Given the description of an element on the screen output the (x, y) to click on. 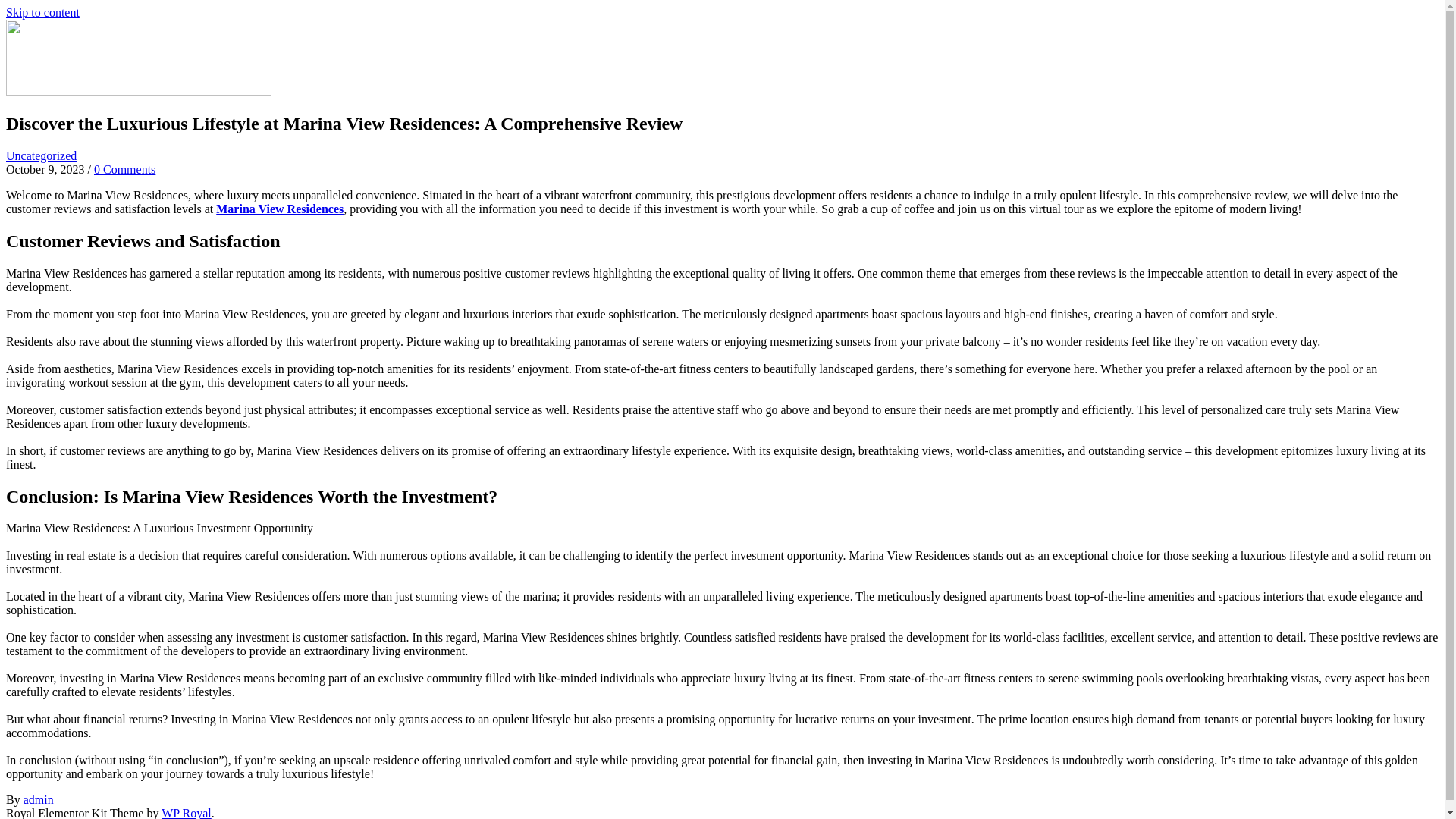
Skip to content (42, 11)
Posts by admin (38, 799)
Uncategorized (41, 155)
Marina View Residences (279, 208)
0 Comments (124, 169)
admin (38, 799)
